Given the description of an element on the screen output the (x, y) to click on. 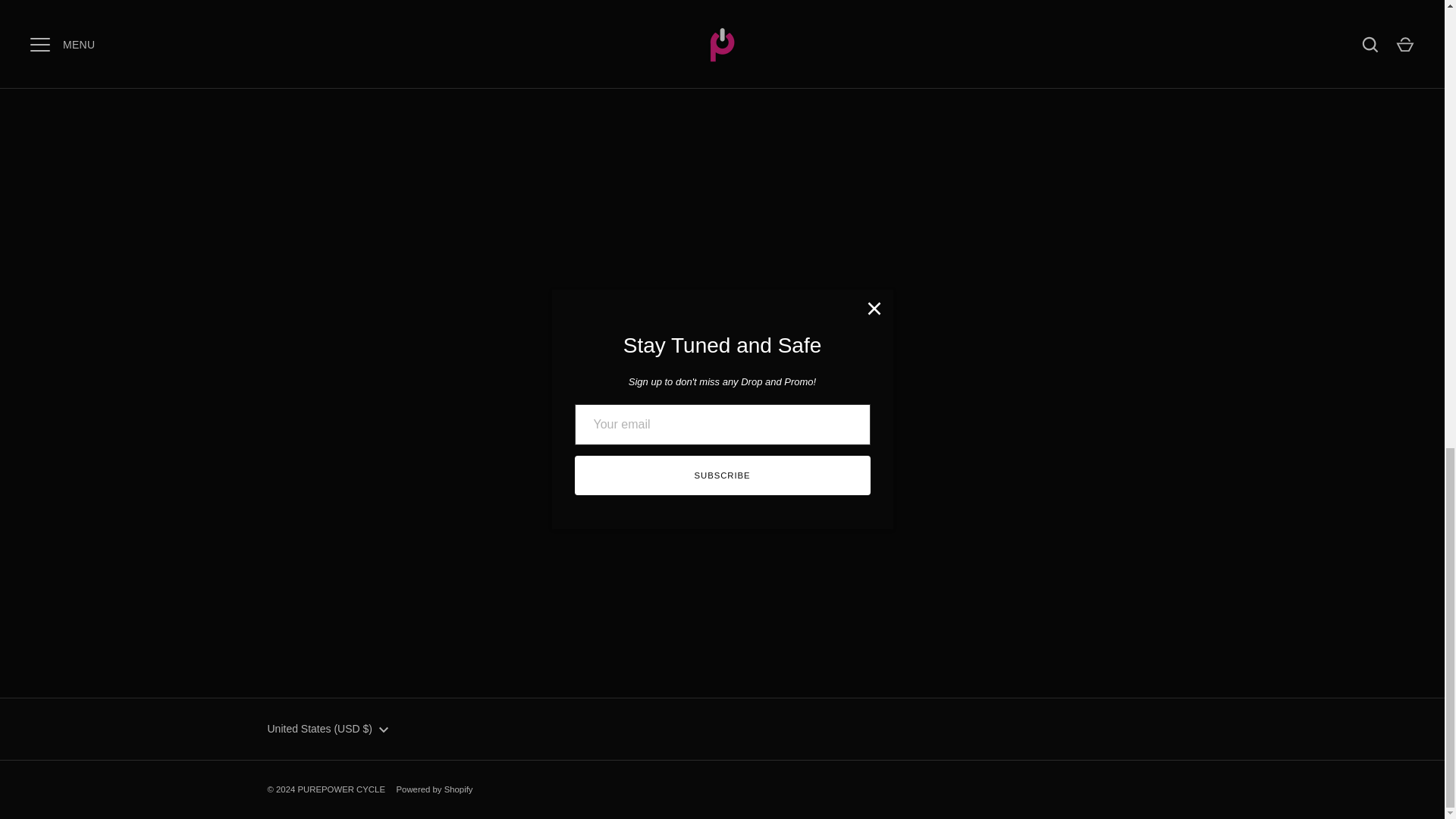
Down (383, 730)
